Given the description of an element on the screen output the (x, y) to click on. 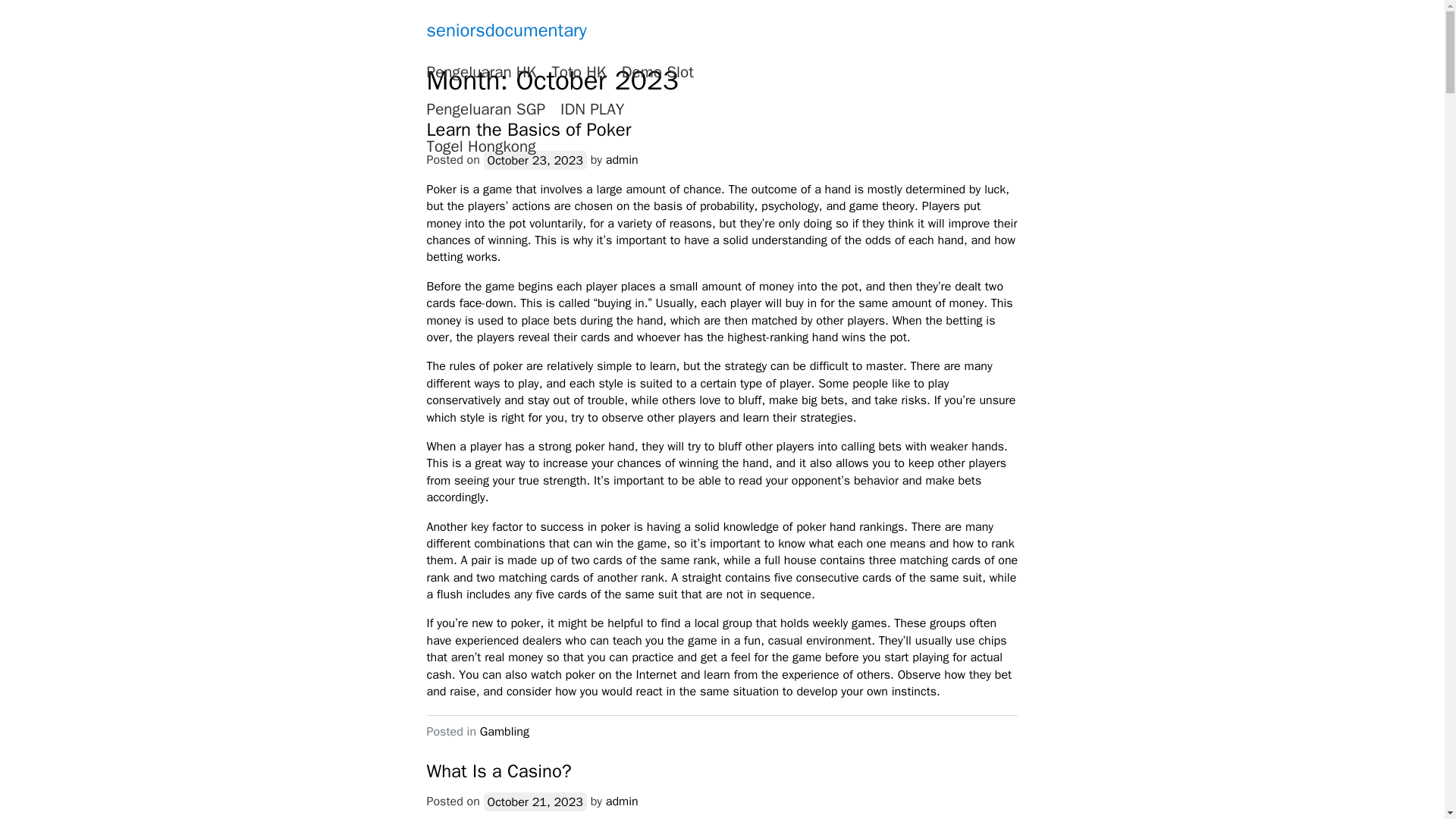
Pengeluaran SGP (485, 110)
Togel Hongkong (480, 147)
October 23, 2023 (534, 159)
Pengeluaran HK (480, 73)
Gambling (504, 731)
Toto HK (578, 73)
seniorsdocumentary (506, 29)
October 21, 2023 (534, 801)
What Is a Casino? (498, 771)
